Given the description of an element on the screen output the (x, y) to click on. 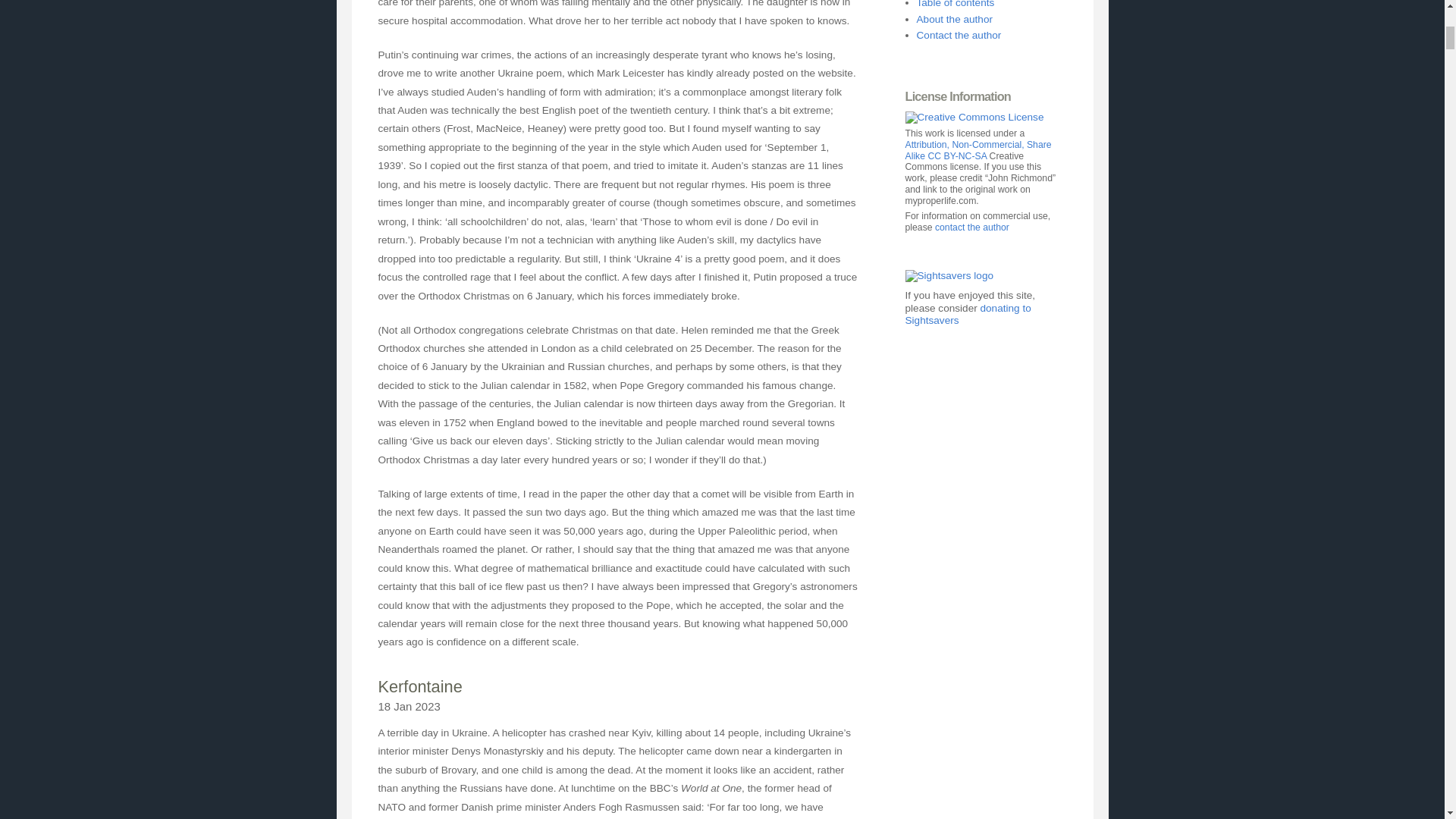
Donate to Sightsavers (949, 275)
contact the author (971, 226)
Sightsavers (949, 275)
donating to Sightsavers (967, 313)
Contact the author (958, 34)
Table of contents (954, 4)
About the author (953, 19)
Attribution, Non-Commercial, Share Alike CC BY-NC-SA (978, 150)
